Given the description of an element on the screen output the (x, y) to click on. 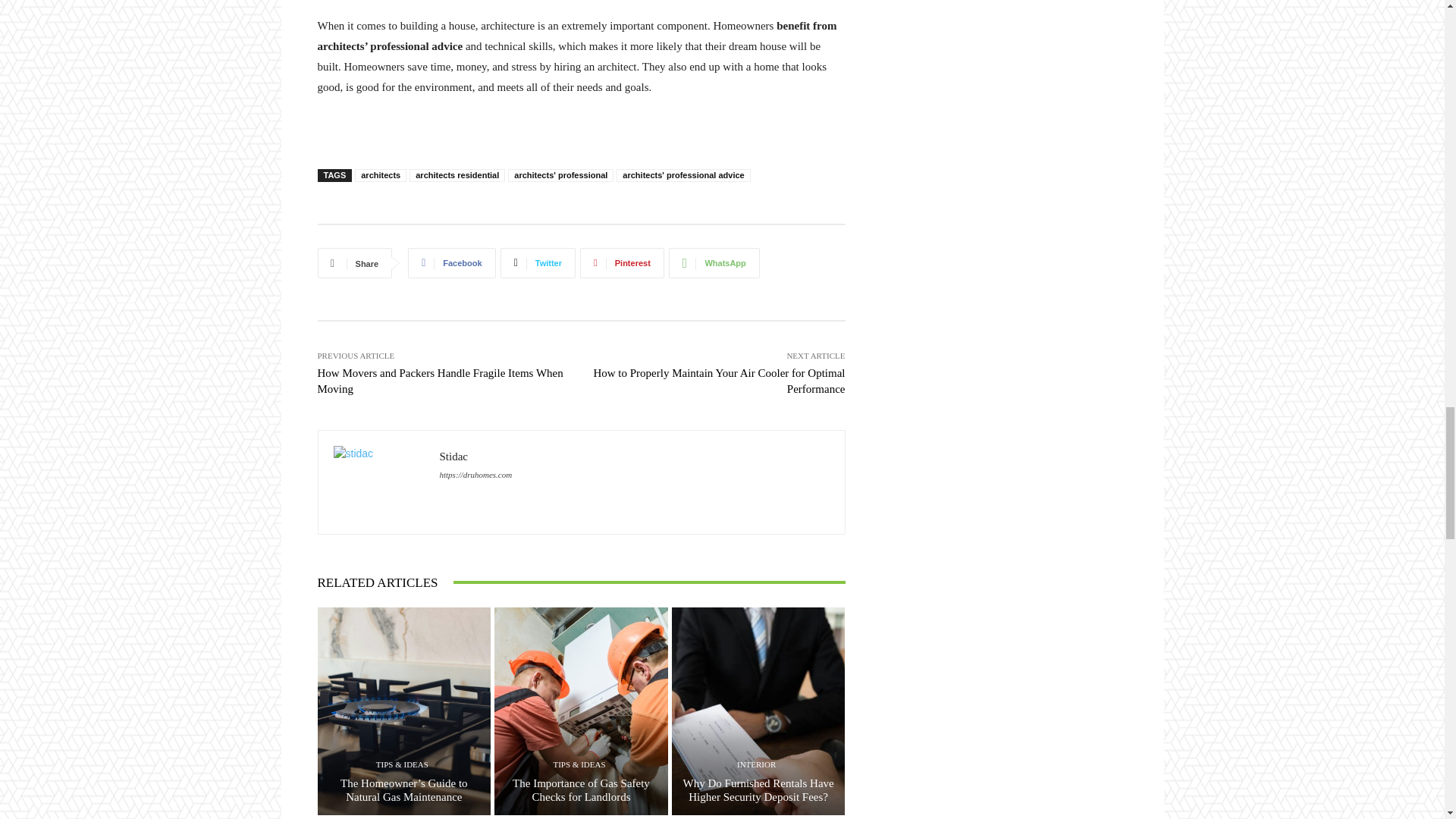
architects (380, 174)
architects residential (457, 174)
architects' professional (560, 174)
